Given the description of an element on the screen output the (x, y) to click on. 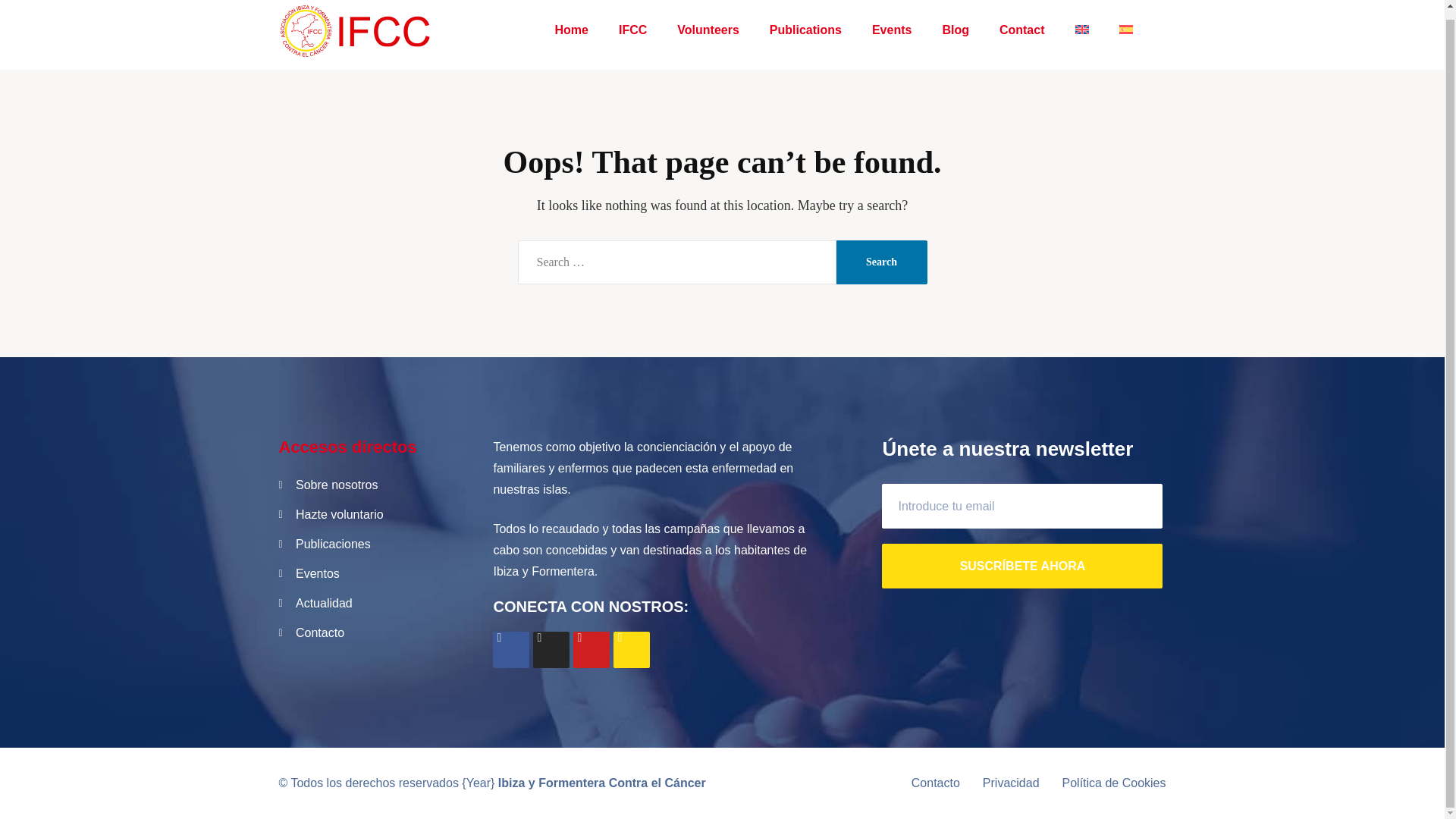
Contacto (374, 633)
Search (880, 262)
Contact (1021, 30)
Publications (805, 30)
Contacto (935, 782)
Hazte voluntario (374, 515)
Blog (955, 30)
Privacidad (1010, 782)
IFCC (633, 30)
Sobre nosotros (374, 484)
